Given the description of an element on the screen output the (x, y) to click on. 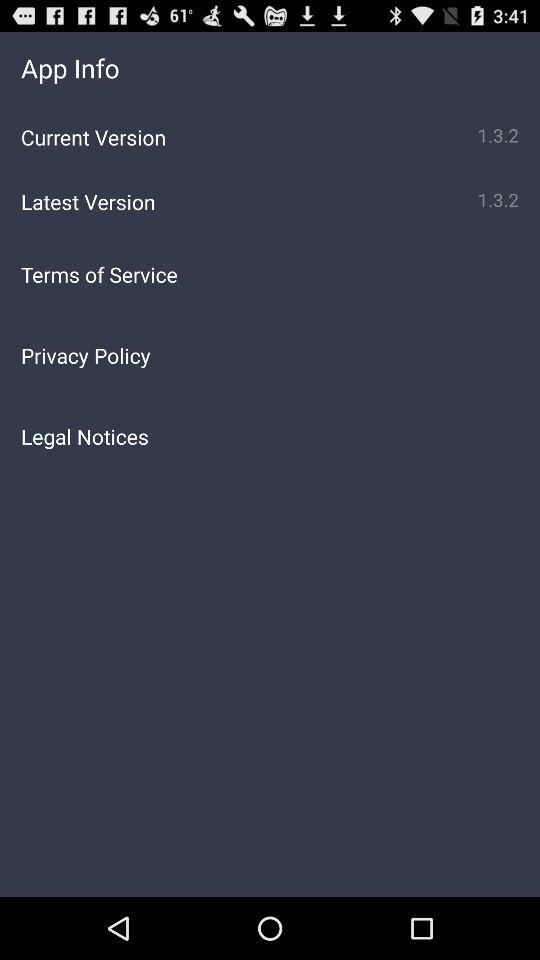
open the icon above the legal notices (270, 355)
